Given the description of an element on the screen output the (x, y) to click on. 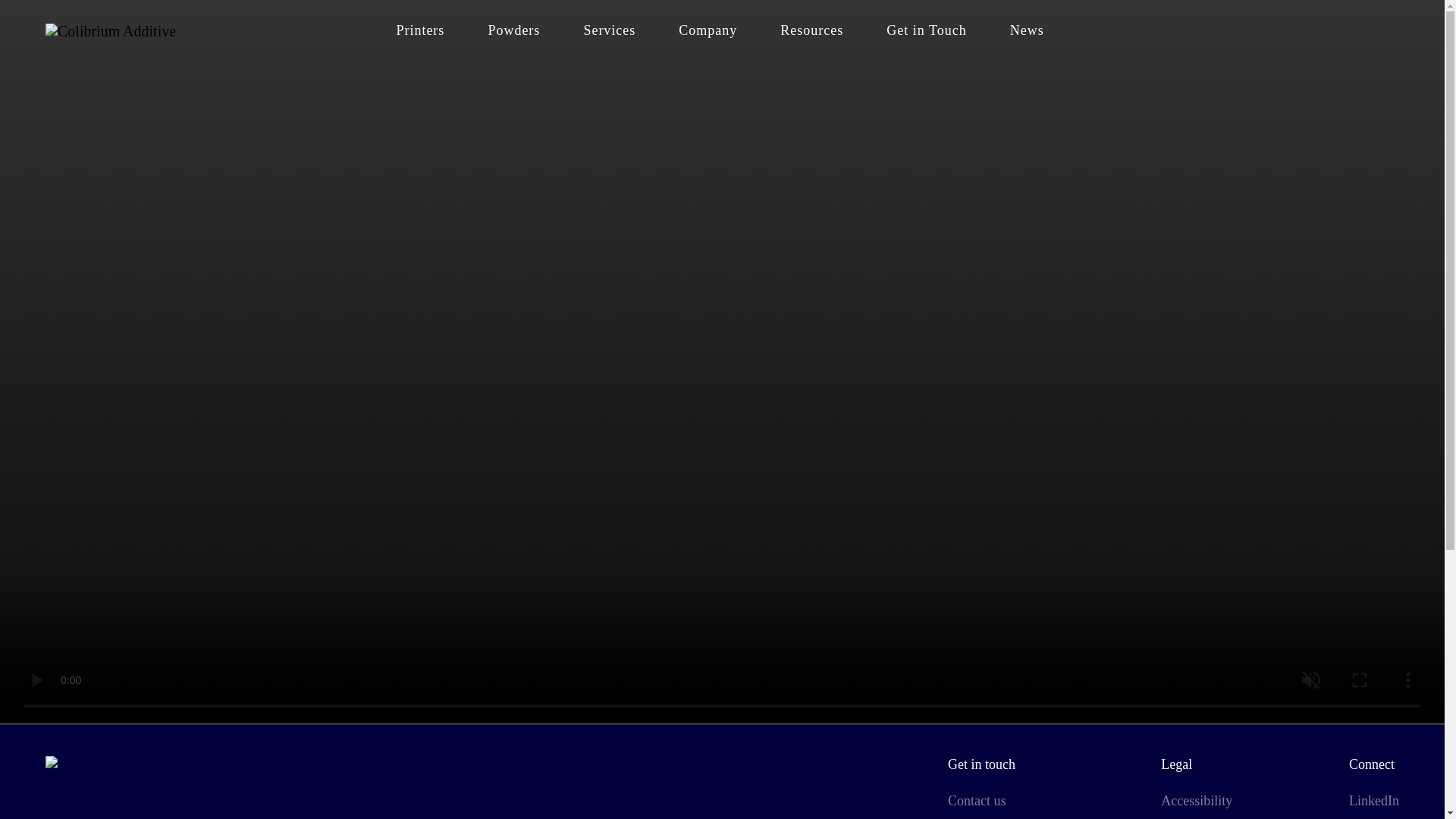
Printers (419, 30)
Contact us (976, 800)
Get in Touch (925, 30)
Services (608, 30)
Services (608, 30)
Resources (811, 30)
Company (707, 30)
Powders (512, 30)
LinkedIn (1374, 800)
Powders (512, 30)
News (1026, 30)
Accessibility (1195, 800)
Colibrium Additive Logo (110, 30)
Company (707, 30)
Printers (419, 12)
